Given the description of an element on the screen output the (x, y) to click on. 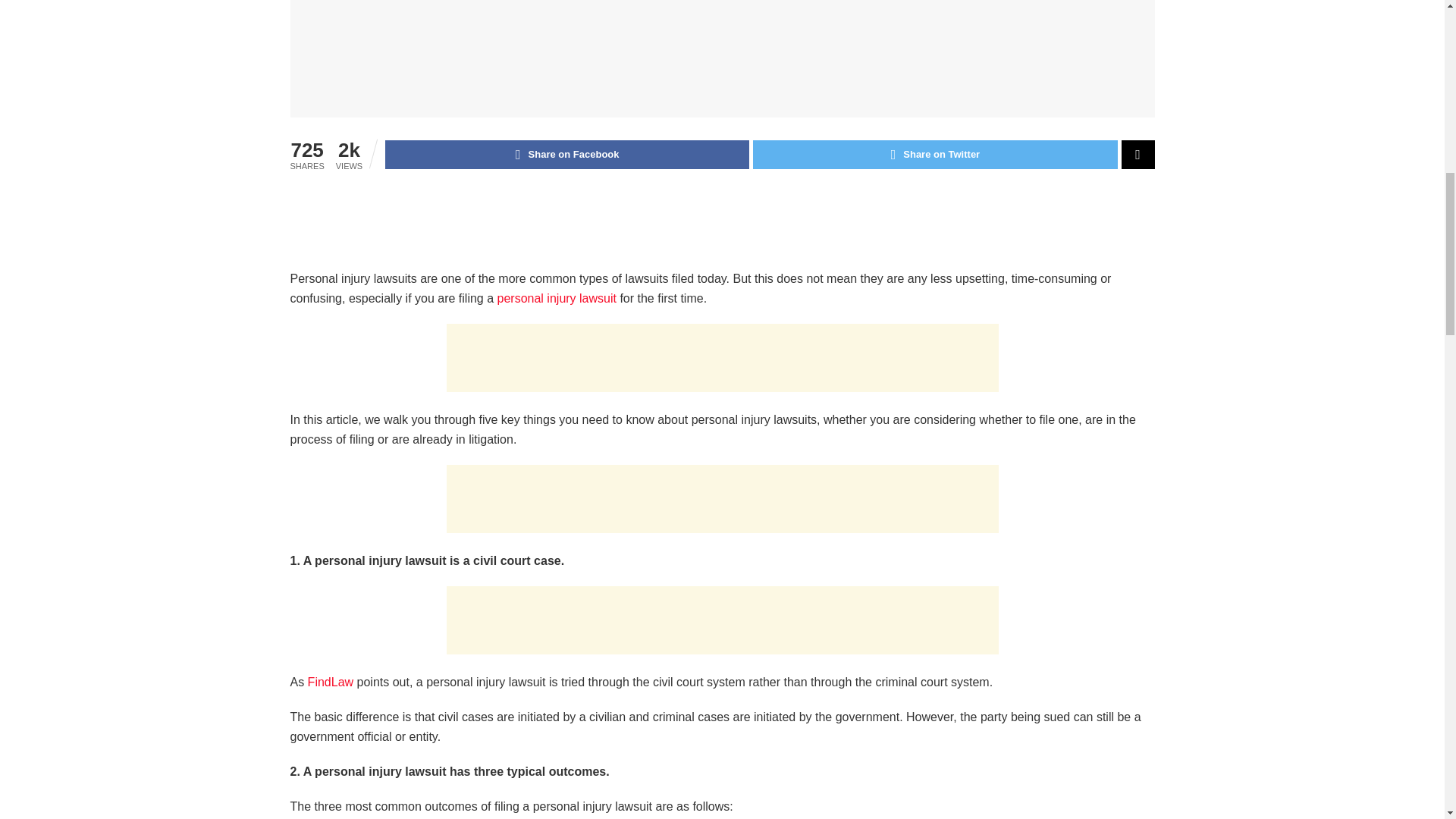
Share on Facebook (567, 154)
personal injury lawsuit (556, 297)
Share on Twitter (934, 154)
FindLaw (328, 681)
